Given the description of an element on the screen output the (x, y) to click on. 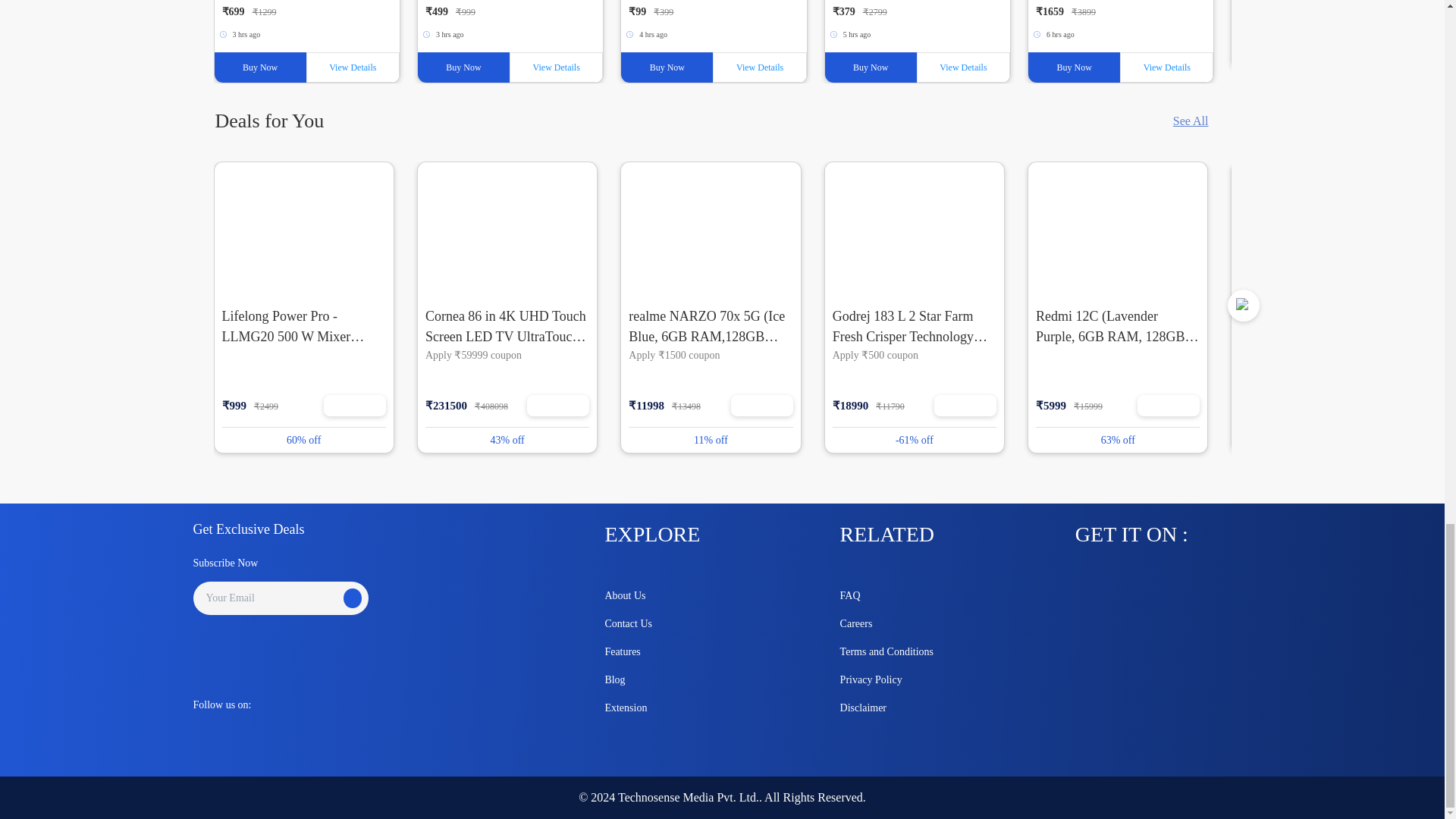
Buy Now (259, 67)
Buy Now (667, 67)
Buy Now (463, 67)
View Details (963, 67)
View Details (759, 67)
Lifelong Power Pro - LLMG20 500 W Mixer Grinder  (303, 229)
View Details (555, 67)
View Details (1165, 67)
View Details (351, 67)
Buy Now (871, 67)
Buy Now (1073, 67)
